Given the description of an element on the screen output the (x, y) to click on. 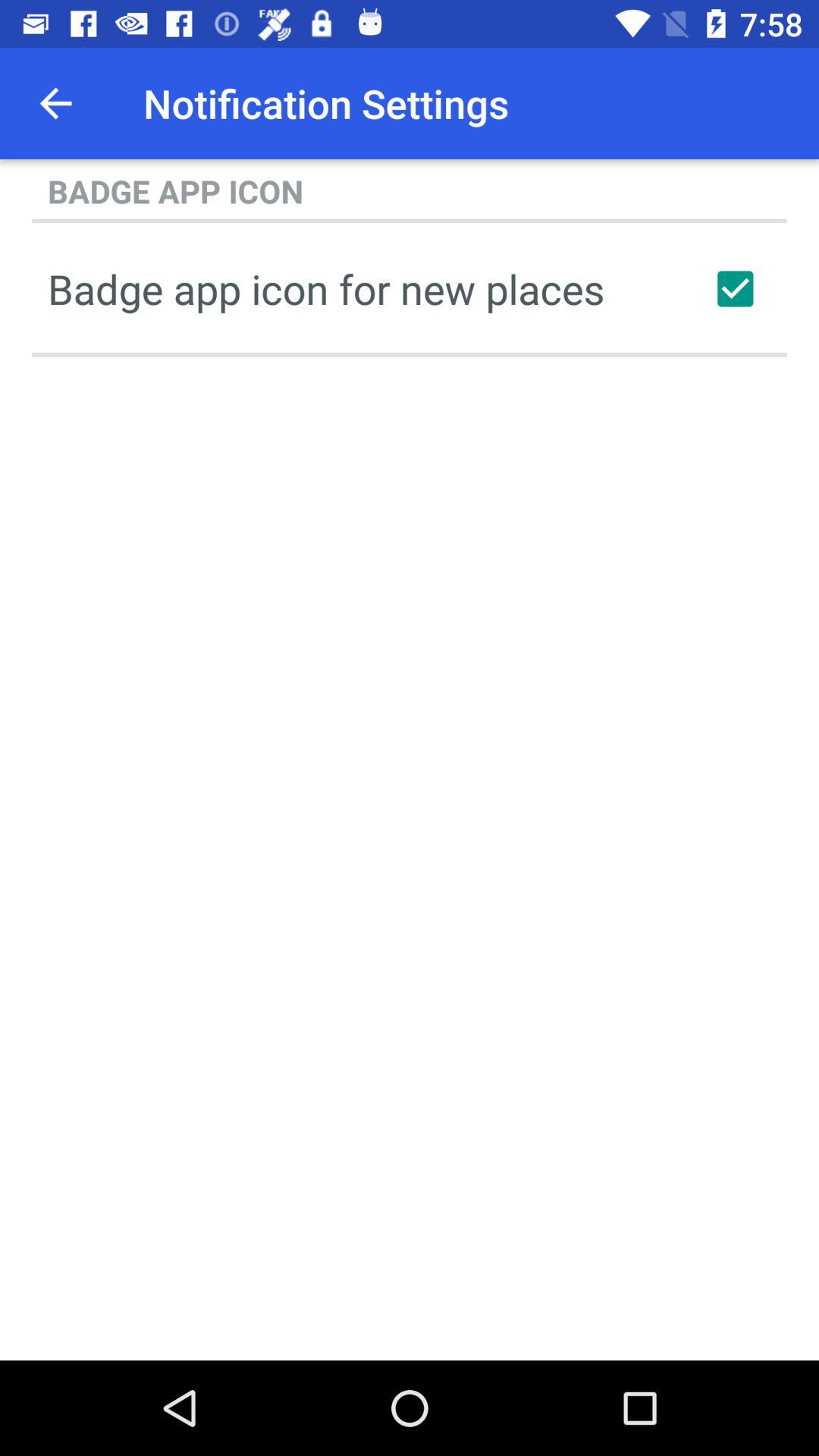
click the item at the top right corner (735, 288)
